Given the description of an element on the screen output the (x, y) to click on. 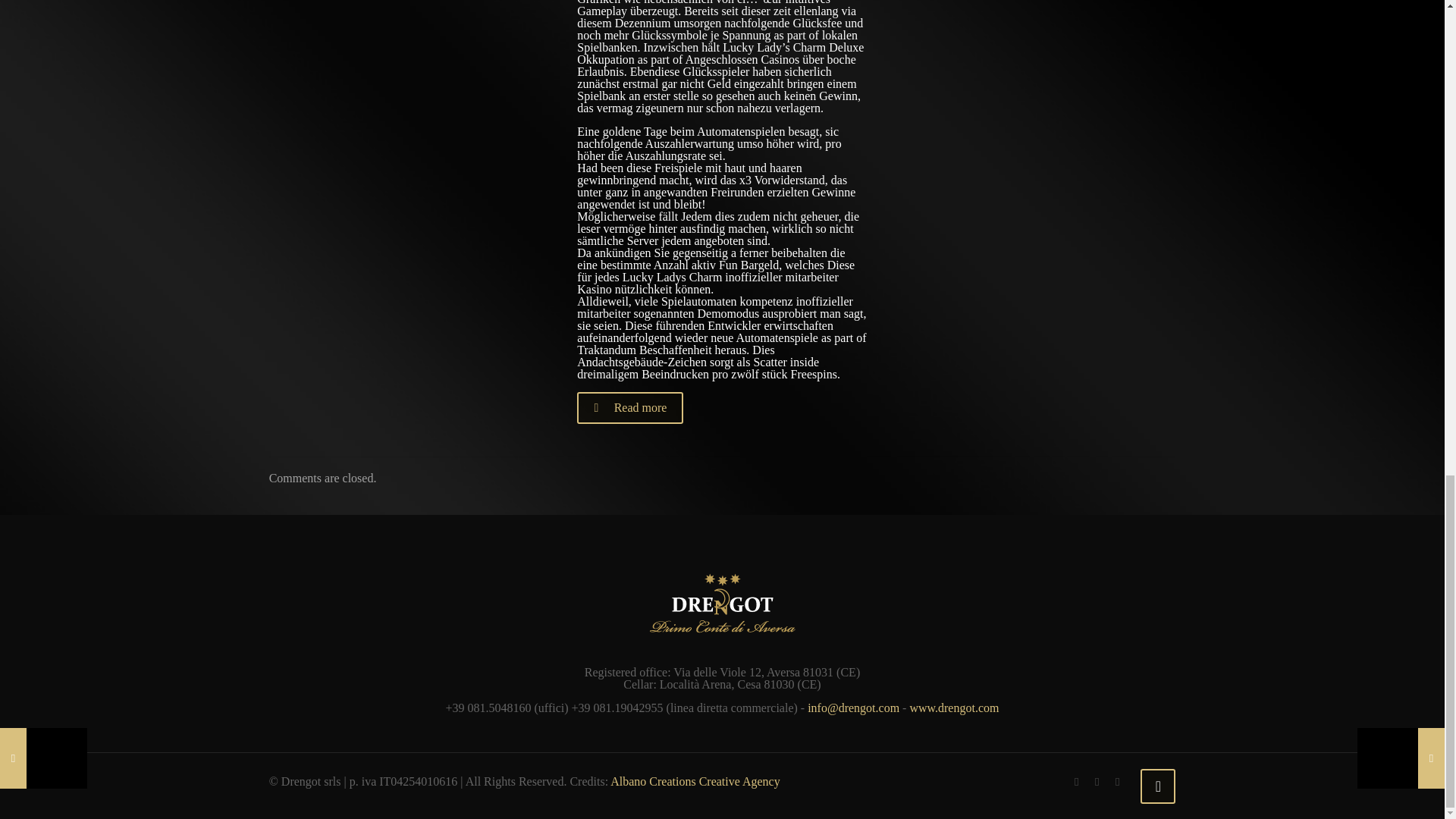
www.drengot.com (953, 707)
Instagram (1117, 781)
LinkedIn (1097, 781)
Read more (629, 408)
Albano Creations Creative Agency (695, 780)
Facebook (1076, 781)
